Given the description of an element on the screen output the (x, y) to click on. 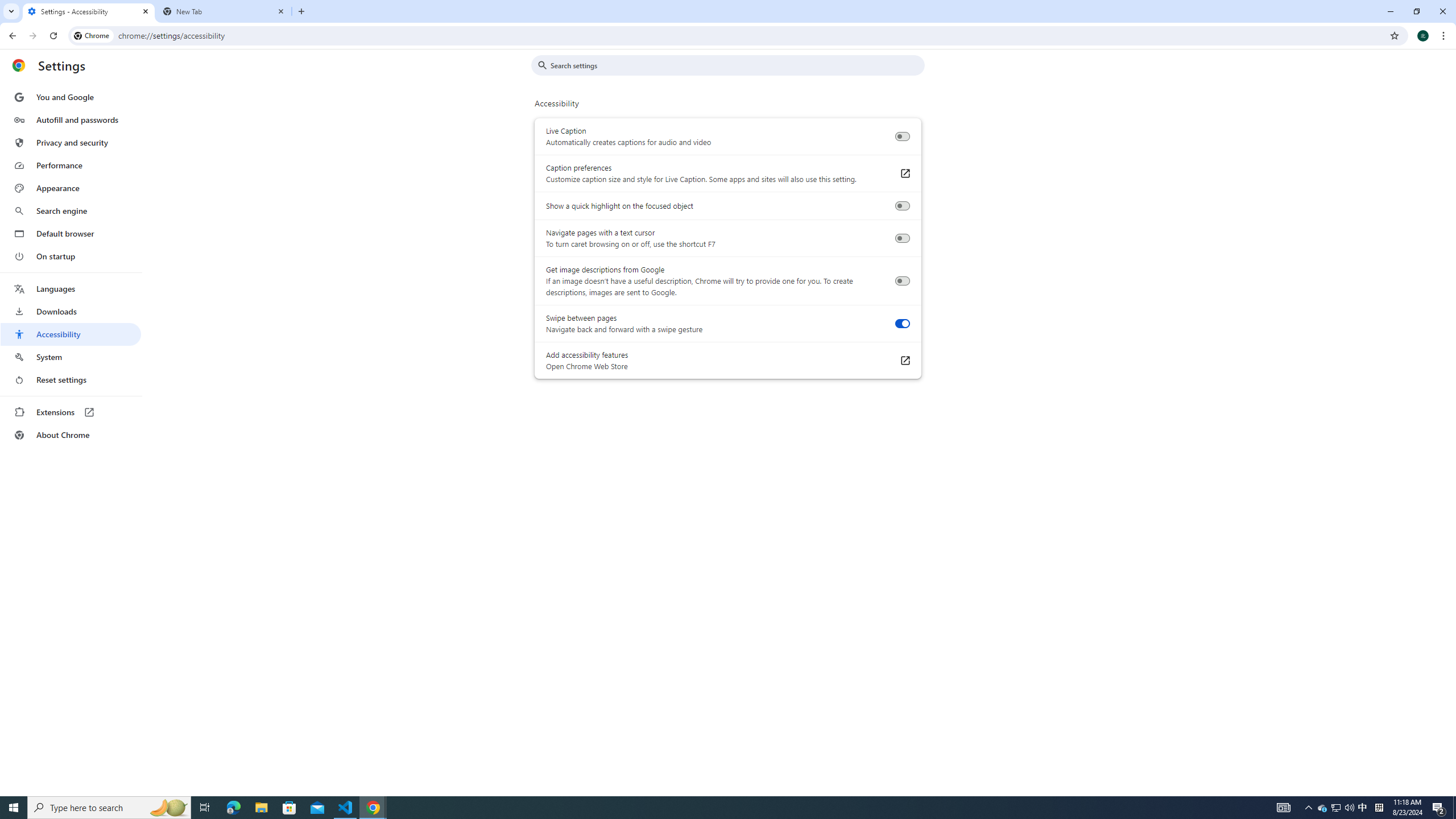
Swipe between pages (901, 323)
Settings - Accessibility (88, 11)
AutomationID: menu (71, 265)
Default browser (70, 233)
Live Caption (901, 136)
Appearance (70, 187)
Get image descriptions from Google (901, 280)
On startup (70, 255)
Add accessibility features Open Chrome Web Store (904, 360)
